Given the description of an element on the screen output the (x, y) to click on. 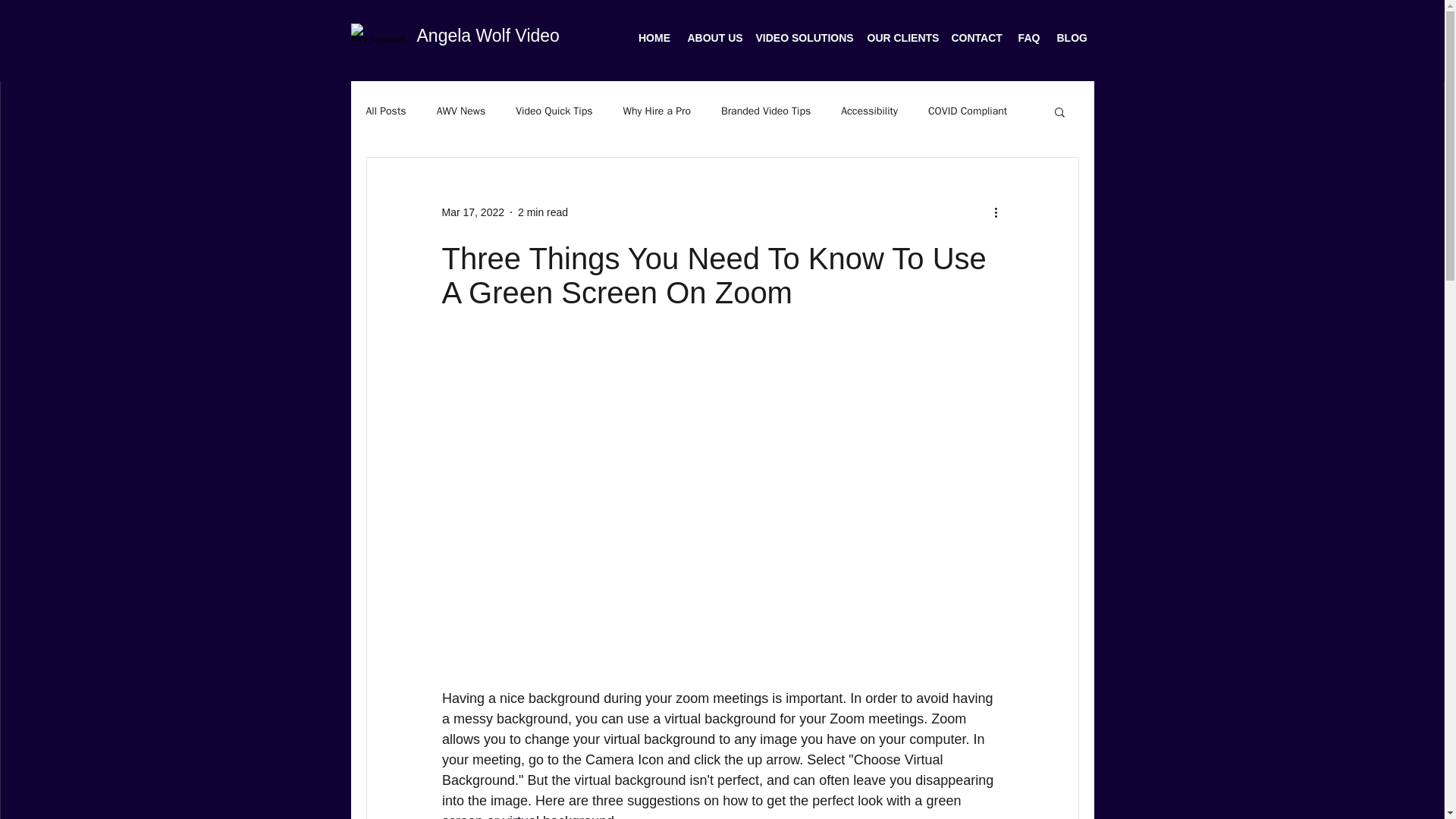
Mar 17, 2022 (472, 212)
Angela Wolf Video (487, 35)
OUR CLIENTS (900, 37)
HOME (653, 37)
AWV News (461, 110)
Accessibility (869, 110)
2 min read (542, 212)
BLOG (1070, 37)
FAQ (1029, 37)
CONTACT (976, 37)
Why Hire a Pro (656, 110)
COVID Compliant (967, 110)
Branded Video Tips (765, 110)
All Posts (385, 110)
Video Quick Tips (553, 110)
